Given the description of an element on the screen output the (x, y) to click on. 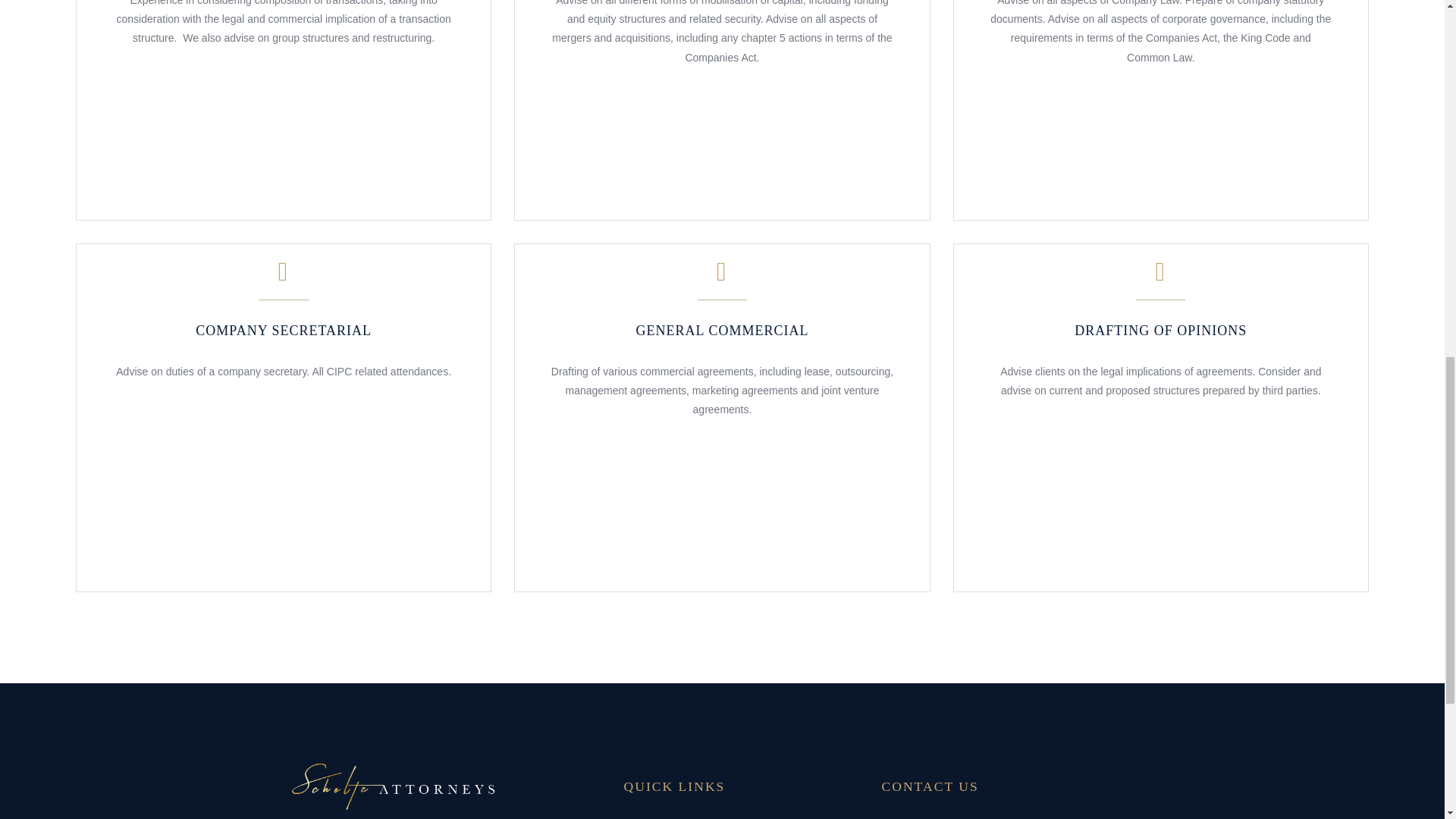
COMPANY SECRETARIAL (283, 322)
DRAFTING OF OPINIONS (1160, 322)
GENERAL COMMERCIAL (722, 322)
